Given the description of an element on the screen output the (x, y) to click on. 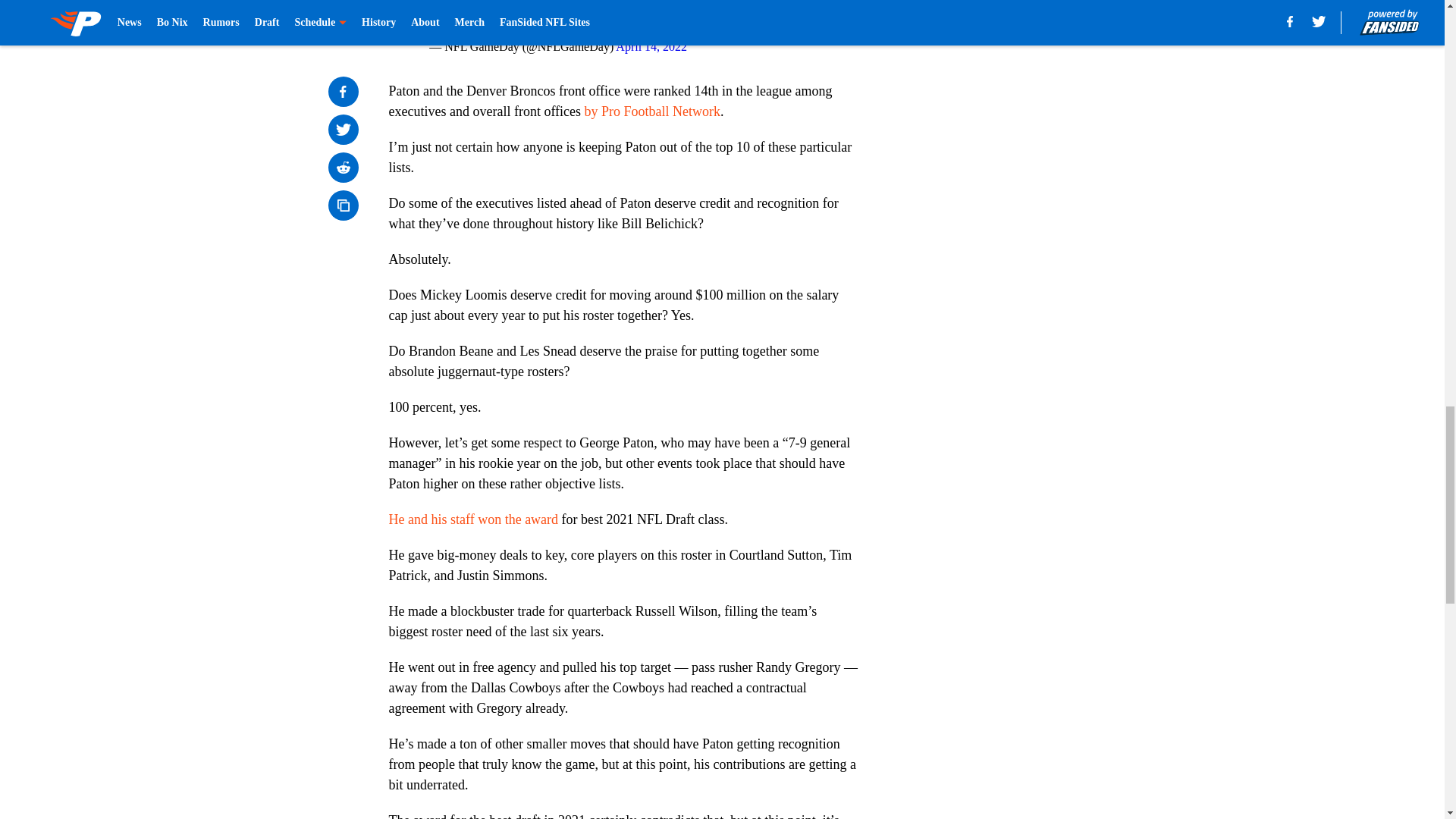
He and his staff won the award (472, 519)
by Pro Football Network (652, 111)
April 14, 2022 (651, 46)
